Given the description of an element on the screen output the (x, y) to click on. 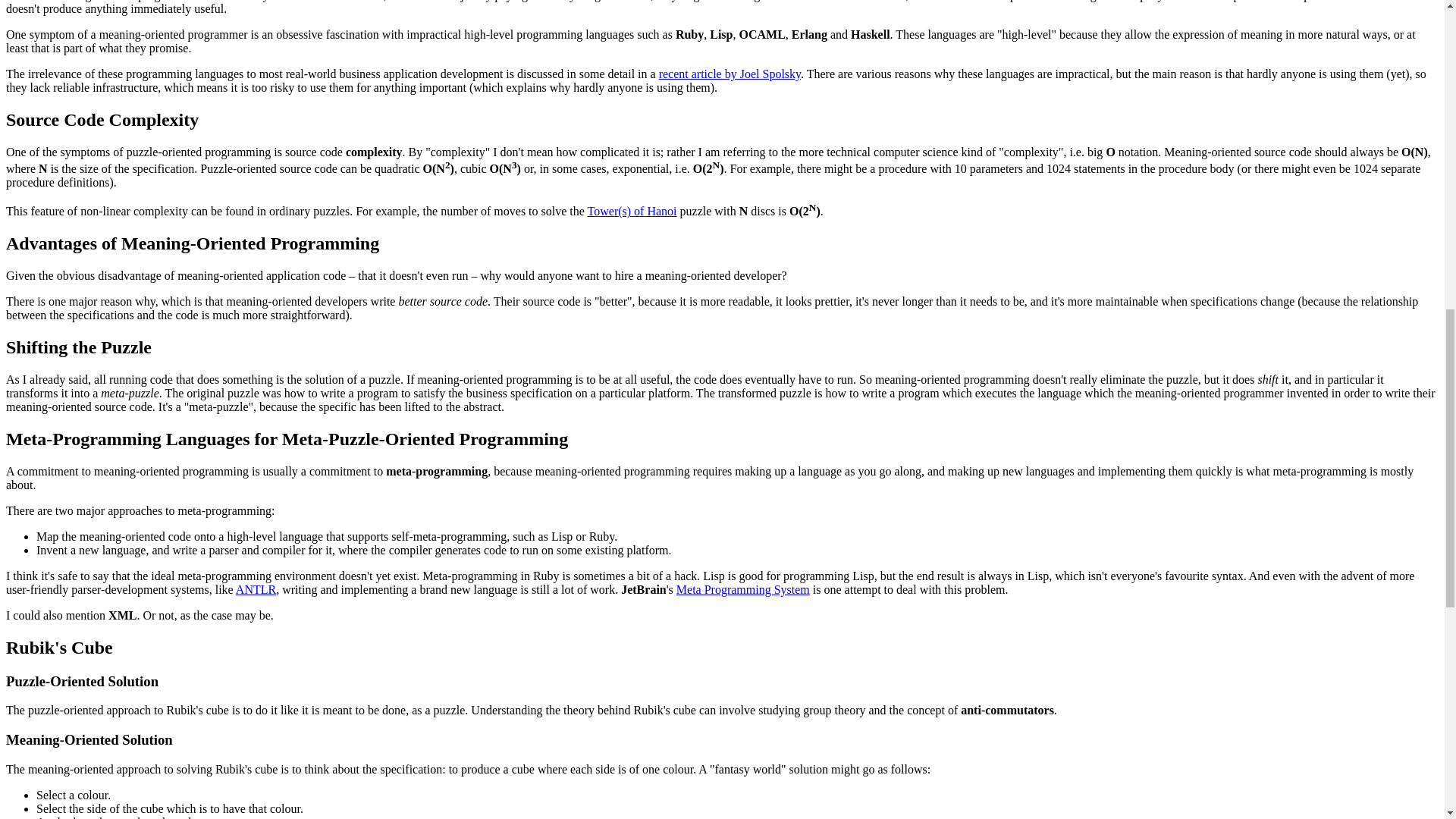
ANTLR (255, 589)
Meta Programming System (743, 589)
recent article by Joel Spolsky (729, 73)
